Given the description of an element on the screen output the (x, y) to click on. 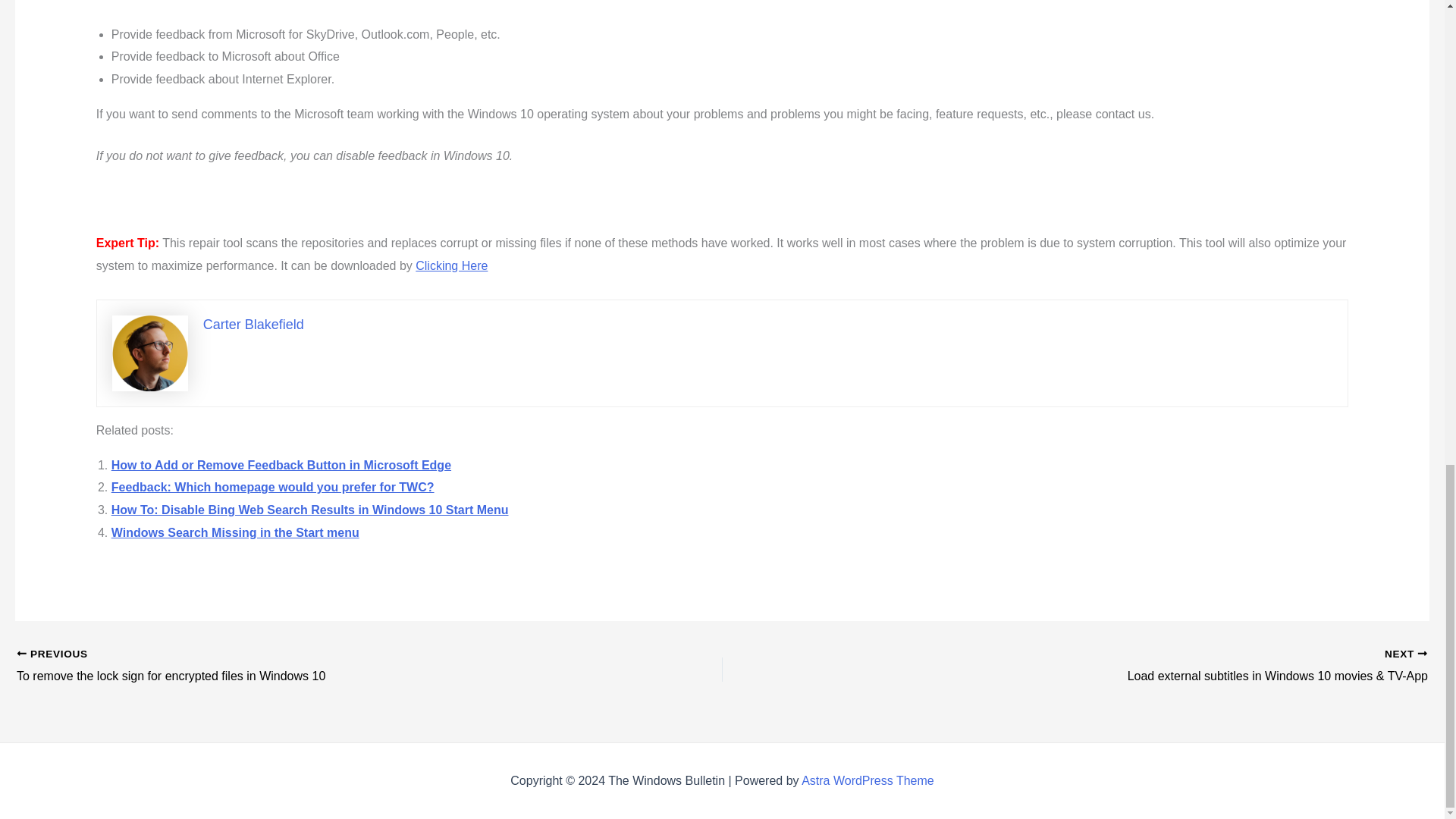
How to Add or Remove Feedback Button in Microsoft Edge (281, 464)
Feedback: Which homepage would you prefer for TWC? (272, 486)
Windows Search Missing in the Start menu (235, 532)
Clicking Here (450, 265)
Feedback: Which homepage would you prefer for TWC? (272, 486)
How to Add or Remove Feedback Button in Microsoft Edge (281, 464)
Windows Search Missing in the Start menu (235, 532)
Astra WordPress Theme (868, 780)
Carter Blakefield (253, 324)
To remove the lock sign for encrypted files in Windows 10 (299, 666)
